Given the description of an element on the screen output the (x, y) to click on. 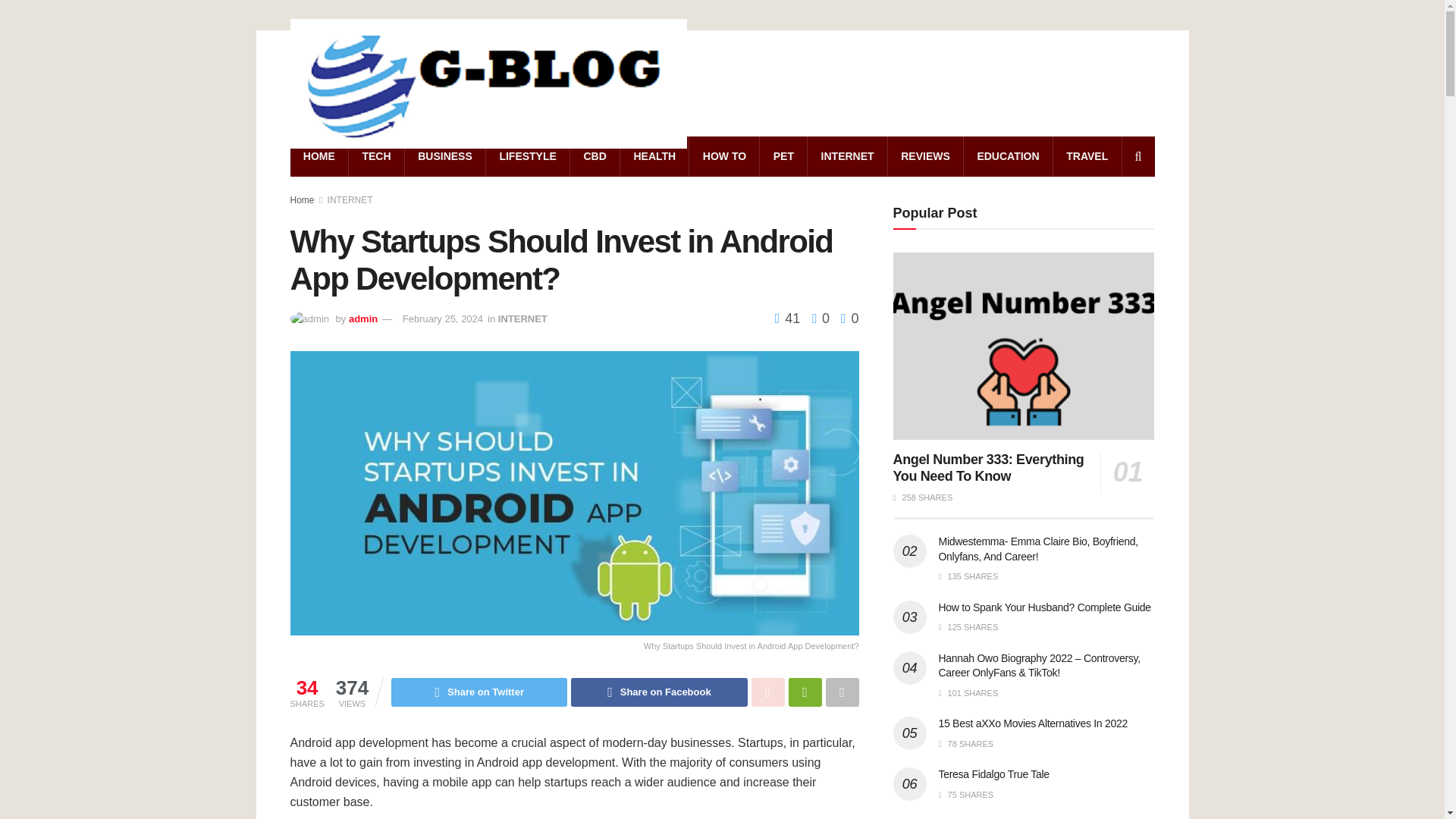
INTERNET (349, 199)
REVIEWS (925, 156)
Home (301, 199)
0 (816, 318)
0 (850, 318)
INTERNET (522, 318)
LIFESTYLE (527, 156)
INTERNET (847, 156)
HOME (318, 156)
TRAVEL (1086, 156)
